Given the description of an element on the screen output the (x, y) to click on. 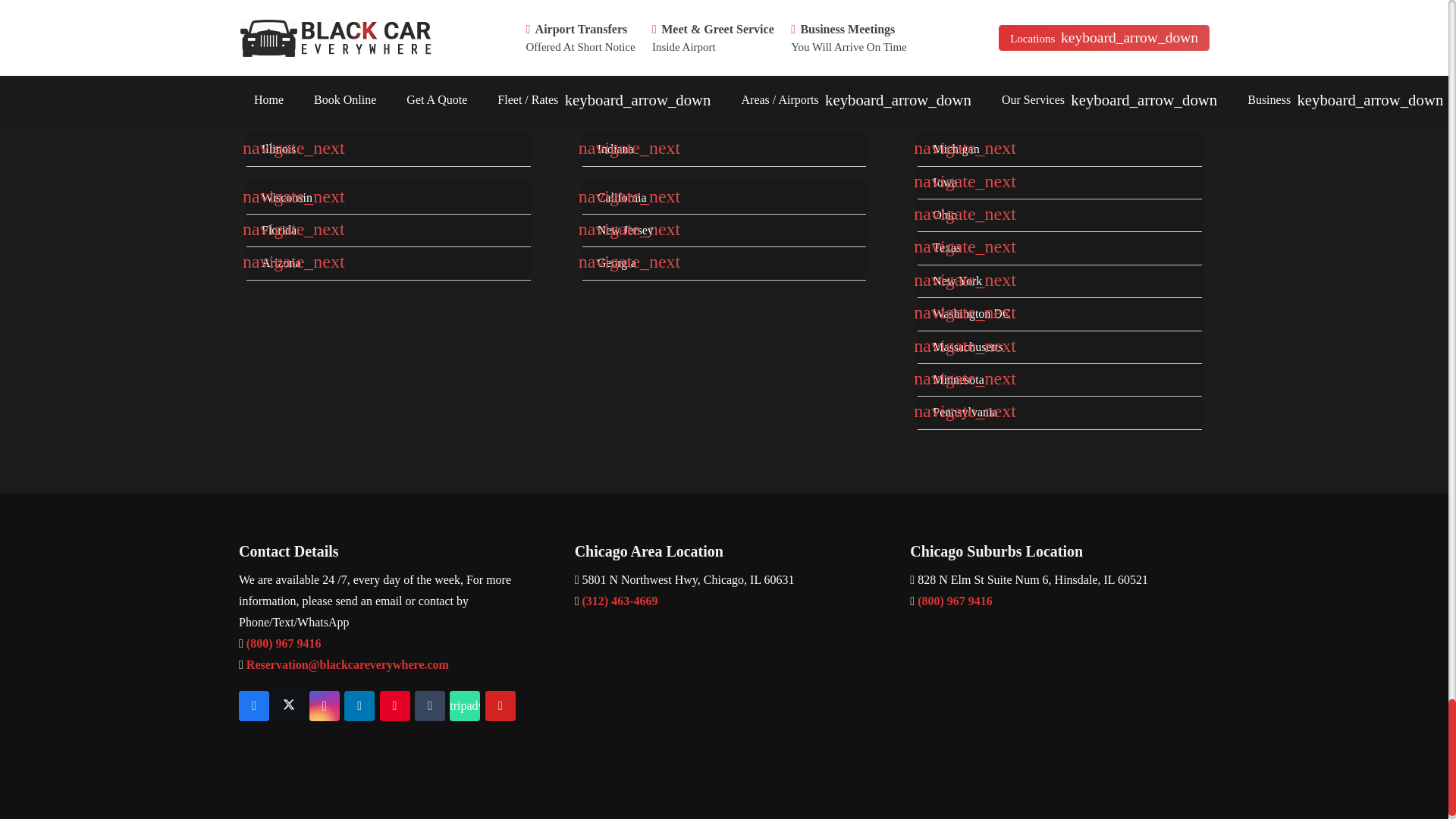
Tripadvisor (464, 706)
Instagram (323, 706)
Twitter (288, 706)
Pinterest (393, 706)
Yelp (499, 706)
Tumblr (429, 706)
LinkedIn (358, 706)
Facebook (253, 706)
